Given the description of an element on the screen output the (x, y) to click on. 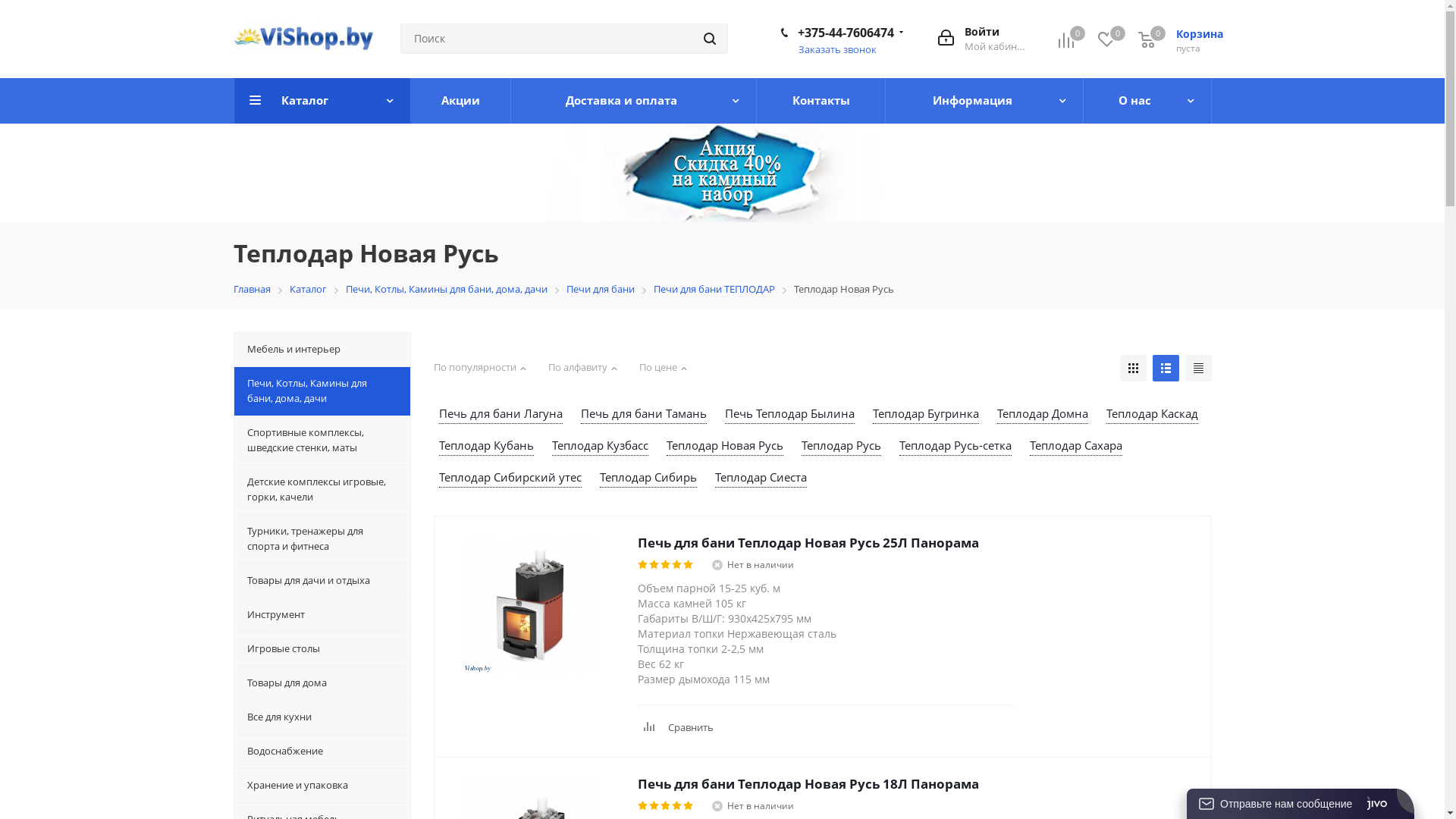
Y Element type: text (4, 4)
1 Element type: hover (642, 805)
4 Element type: hover (677, 805)
4 Element type: hover (677, 564)
2 Element type: hover (654, 805)
5 Element type: hover (687, 564)
+375-44-7606474 Element type: text (845, 32)
3 Element type: hover (665, 805)
2 Element type: hover (654, 564)
1 Element type: hover (642, 564)
3 Element type: hover (665, 564)
5 Element type: hover (687, 805)
